Given the description of an element on the screen output the (x, y) to click on. 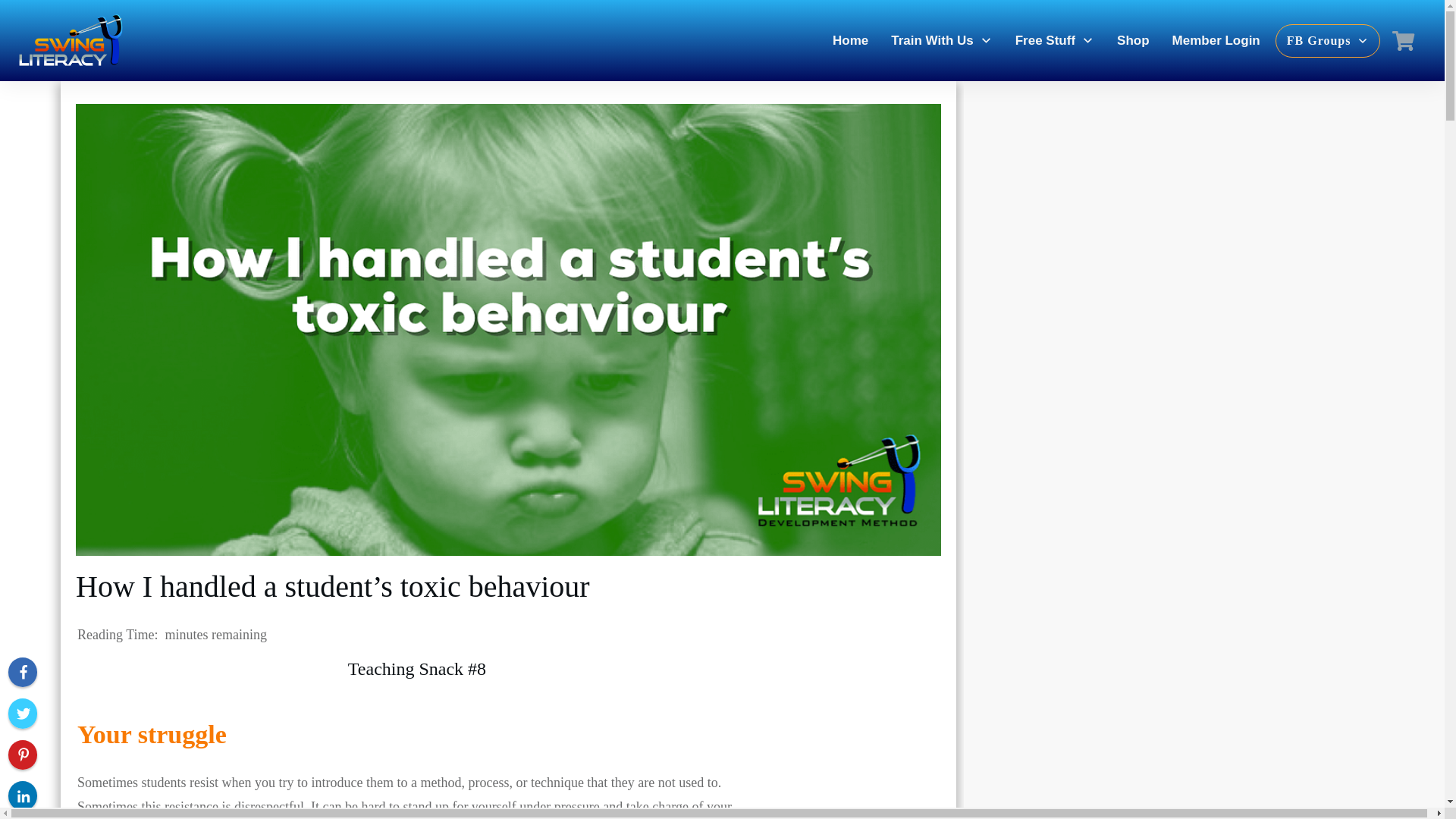
Member Login (1216, 40)
Home (849, 40)
FB Groups (1328, 40)
Train With Us (941, 40)
Shop (1133, 40)
Free Stuff (1054, 40)
